Given the description of an element on the screen output the (x, y) to click on. 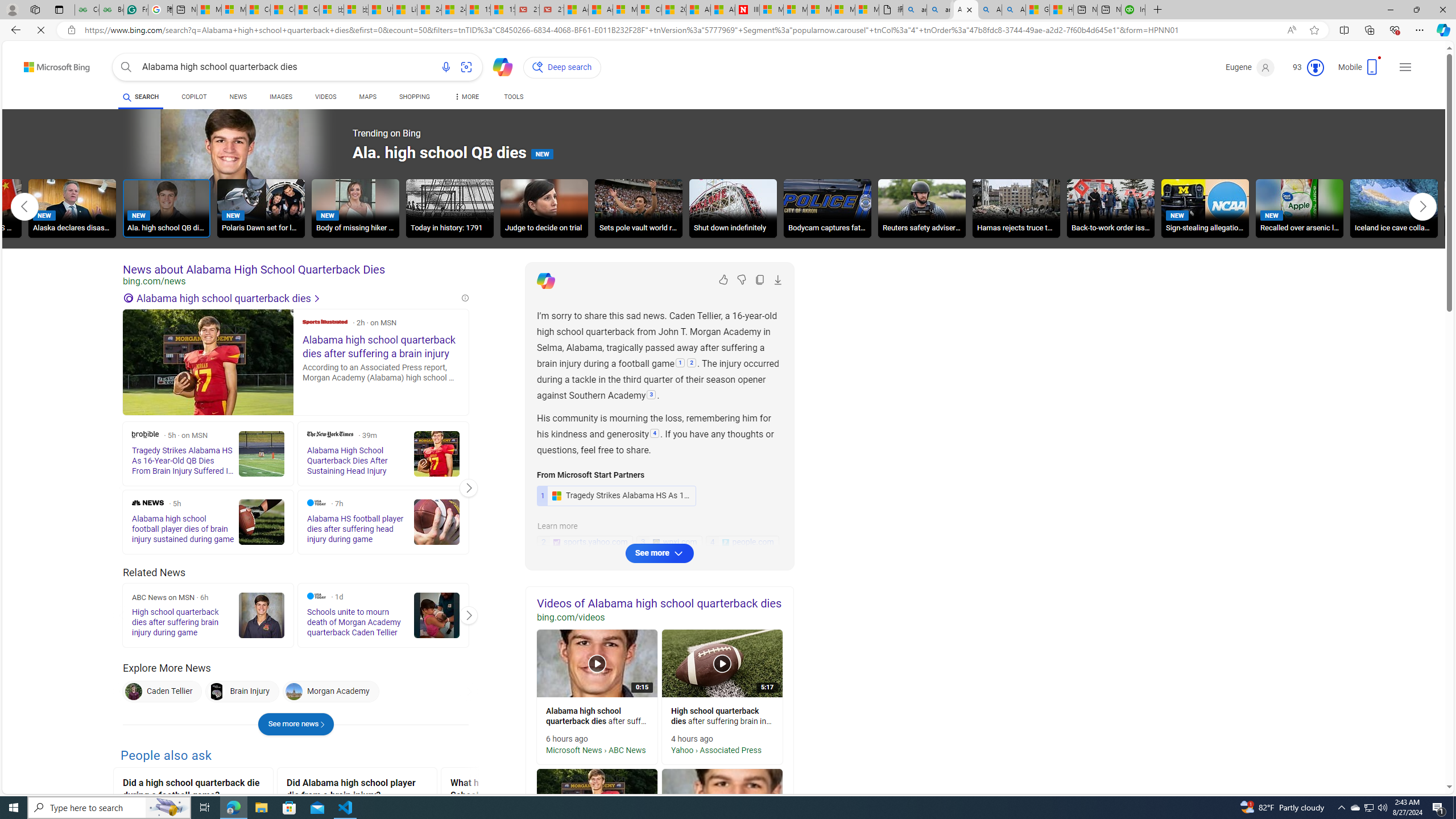
Morgan Academy Morgan Academy (330, 691)
Did a high school quarterback die during a football game? (192, 791)
Alabama high school quarterback dies - Search Videos (986, 9)
